Given the description of an element on the screen output the (x, y) to click on. 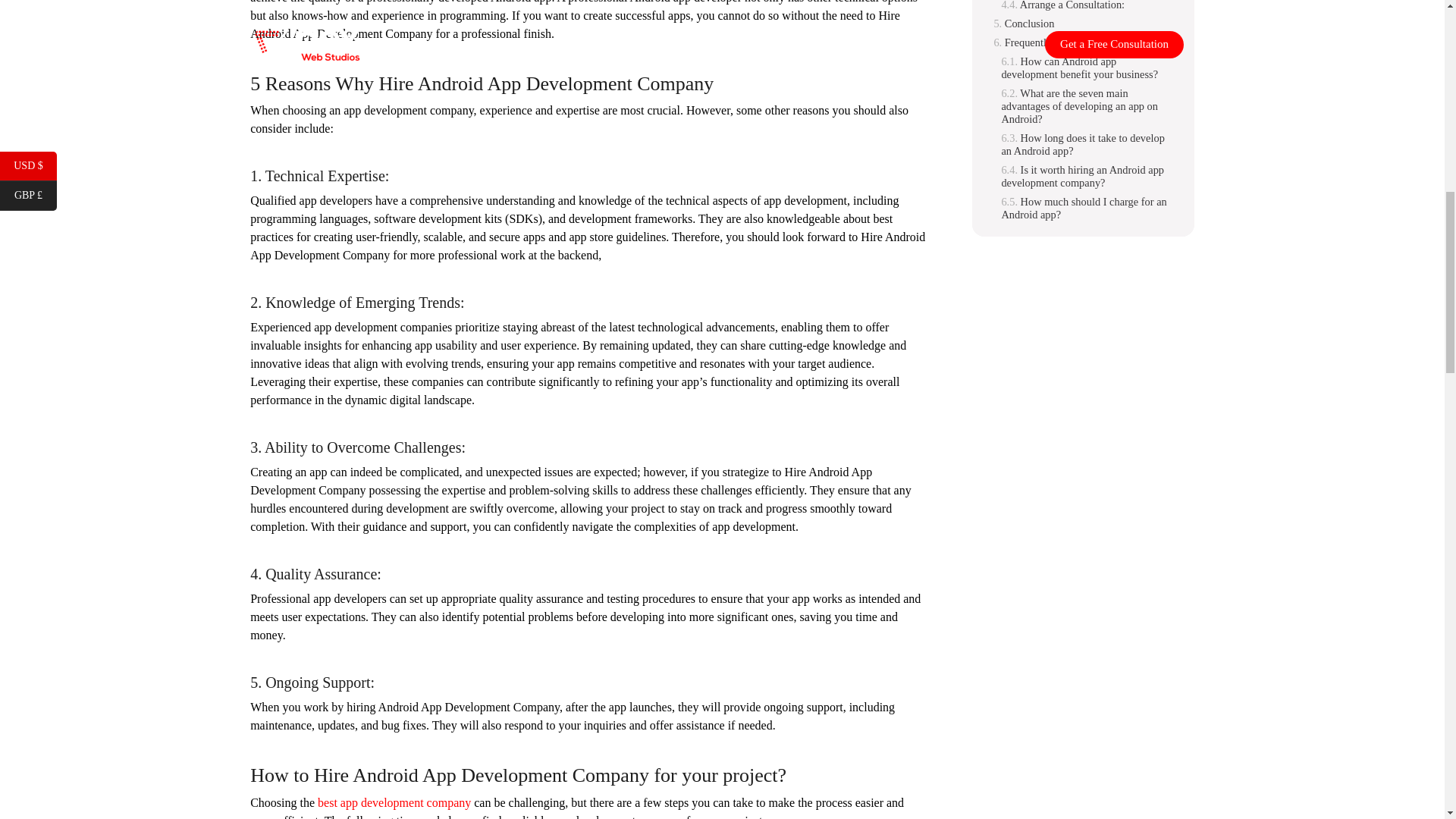
Arrange a Consultation: (1062, 5)
